Given the description of an element on the screen output the (x, y) to click on. 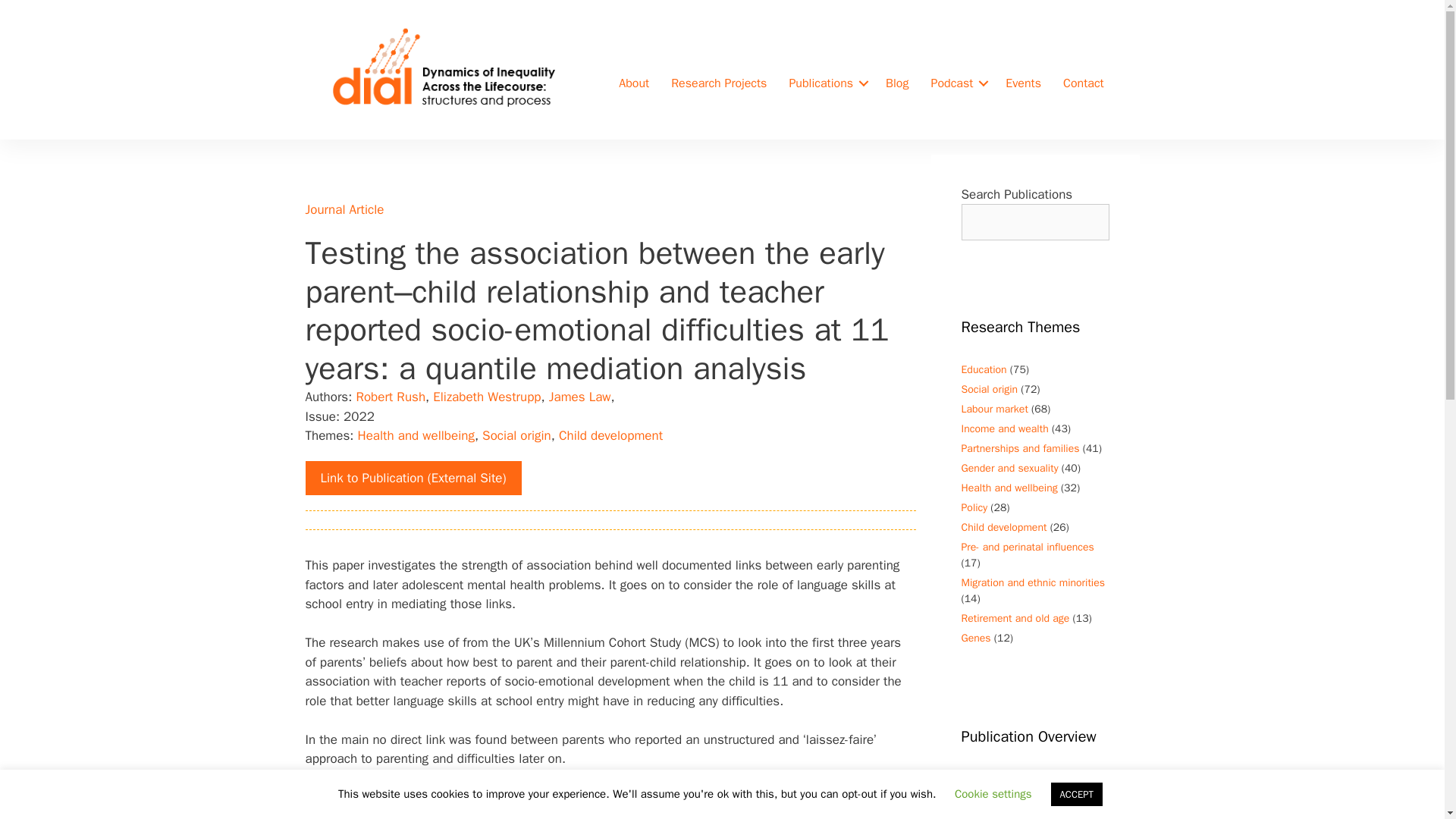
Policy (974, 507)
Gender and sexuality (1009, 468)
Health and wellbeing (1009, 487)
Labour market (993, 408)
Research Projects (719, 82)
Social origin (516, 435)
Social origin (988, 389)
Events (1022, 82)
Podcast (957, 82)
Migration and ethnic minorities (1032, 582)
dial-logo-horizontal-colour (443, 69)
Blog (896, 82)
Child development (610, 435)
Income and wealth (1004, 428)
About (633, 82)
